Given the description of an element on the screen output the (x, y) to click on. 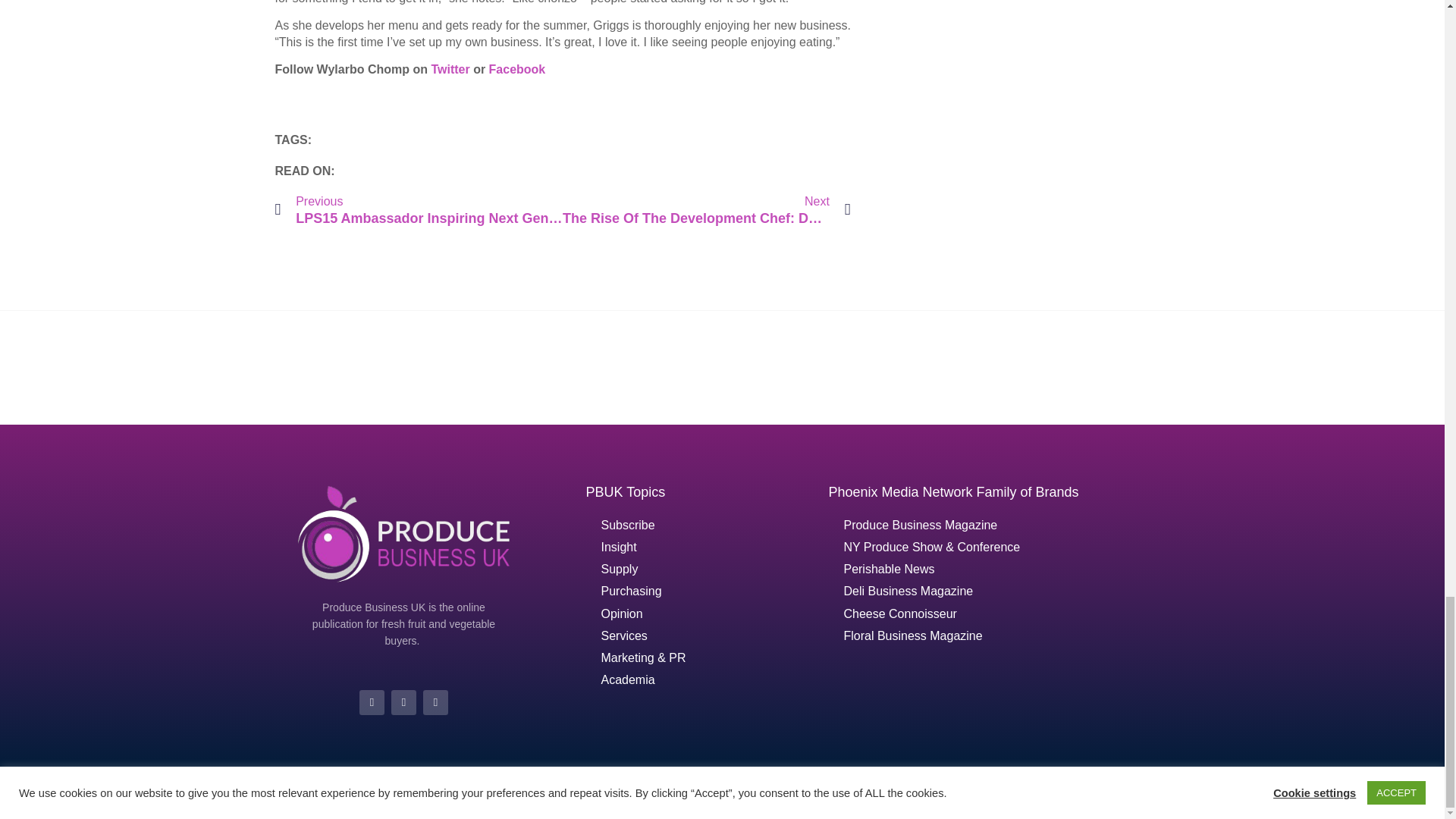
Facebook (517, 69)
Twitter (449, 69)
